Given the description of an element on the screen output the (x, y) to click on. 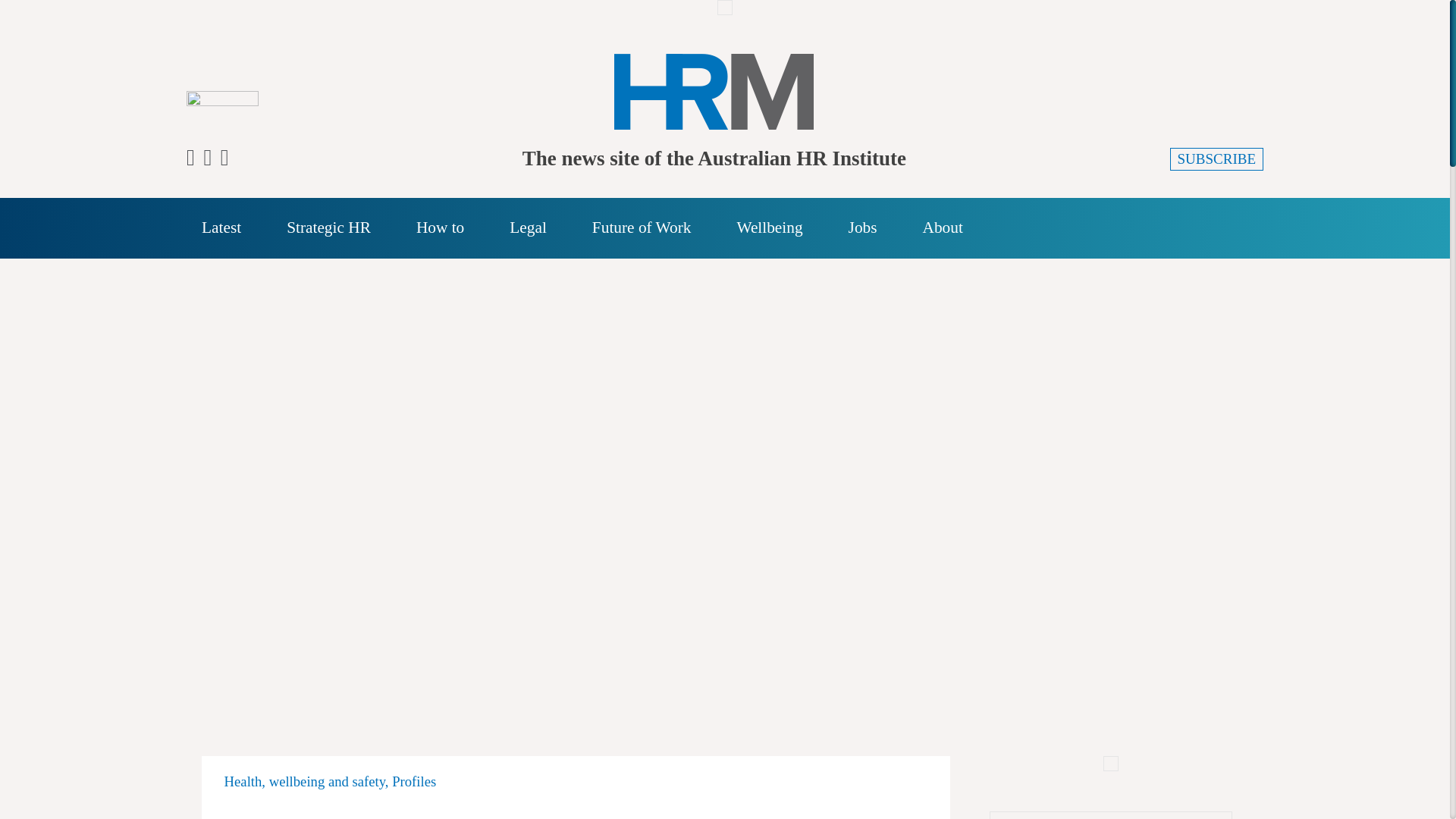
Search for: (1243, 229)
Strategic HR (328, 228)
The news site of the Australian HR Institute (713, 89)
Legal (528, 228)
Latest (221, 228)
Wellbeing (769, 228)
Advertisement (1110, 763)
How to (440, 228)
Future of Work (641, 228)
Advertisement (724, 7)
